Given the description of an element on the screen output the (x, y) to click on. 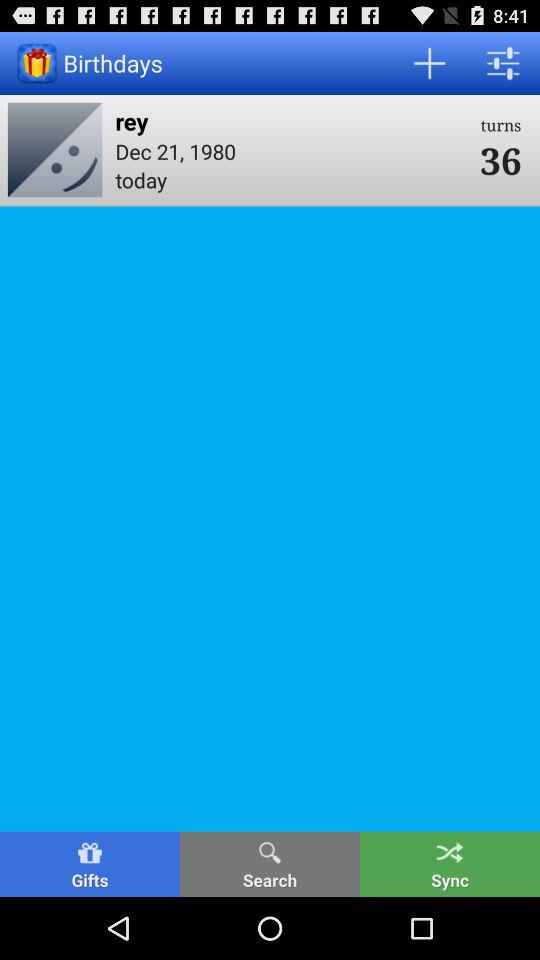
choose the item below the dec 21, 1980 icon (291, 179)
